Given the description of an element on the screen output the (x, y) to click on. 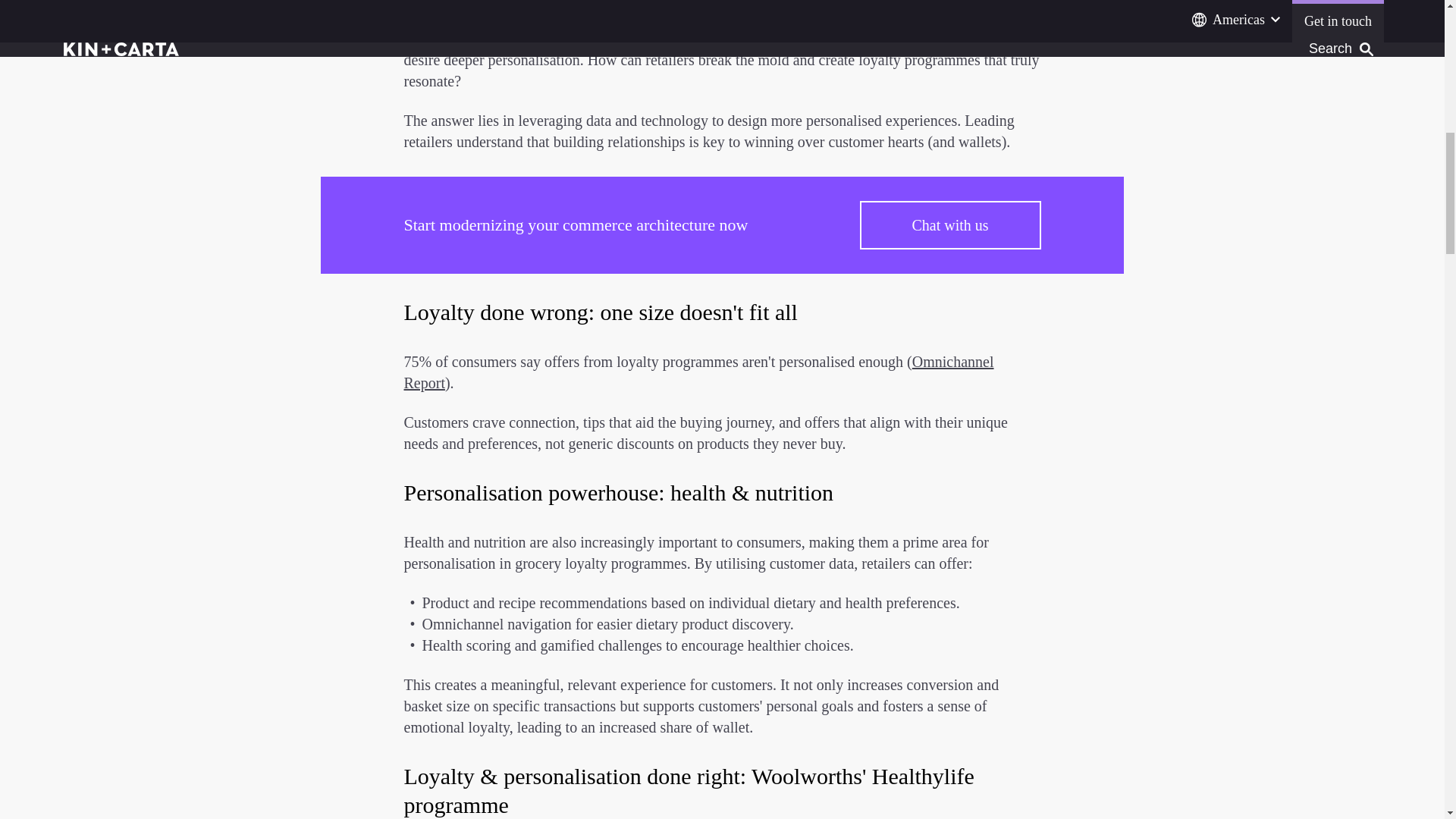
Chat with us (950, 224)
Omnichannel Report (697, 371)
